Given the description of an element on the screen output the (x, y) to click on. 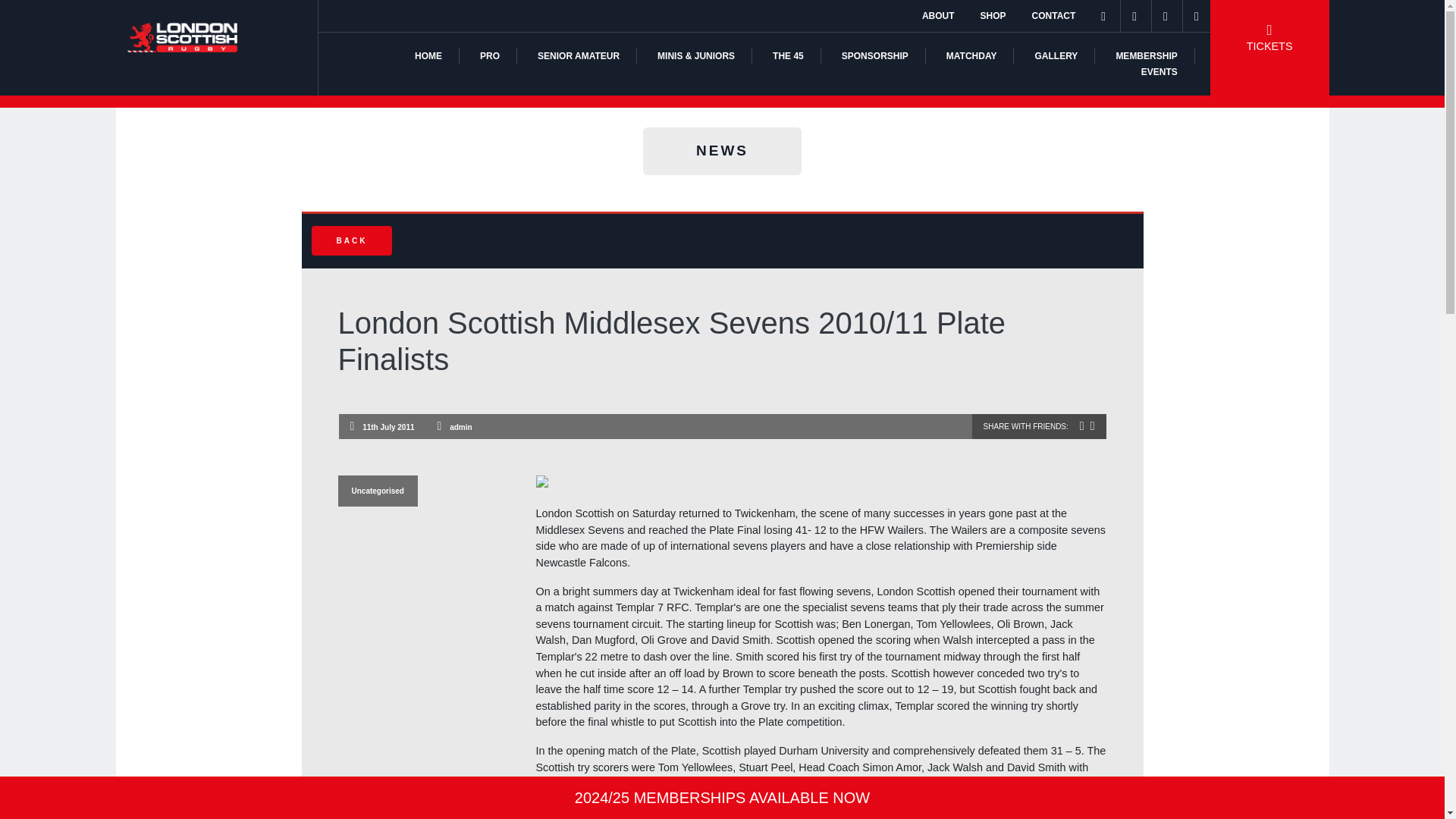
HOME (428, 55)
SPONSORSHIP (874, 55)
THE 45 (788, 55)
SHOP (992, 15)
CONTACT (1053, 15)
GALLERY (1055, 55)
PRO (489, 55)
SENIOR AMATEUR (578, 55)
ABOUT (938, 15)
MEMBERSHIP (1145, 55)
MATCHDAY (971, 55)
